Given the description of an element on the screen output the (x, y) to click on. 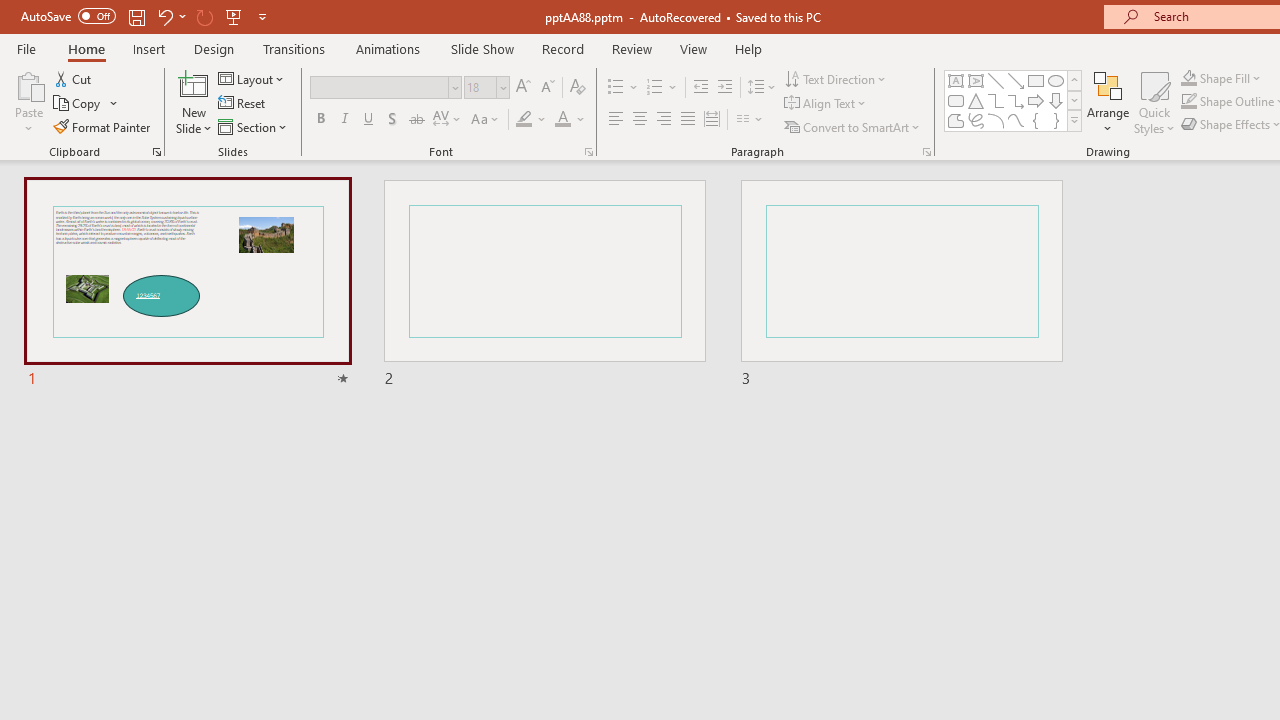
Underline (369, 119)
Shape Outline Teal, Accent 1 (1188, 101)
Justify (687, 119)
Connector: Elbow Arrow (1016, 100)
Curve (1016, 120)
Left Brace (1035, 120)
Oval (1055, 80)
Align Left (616, 119)
Change Case (486, 119)
Convert to SmartArt (853, 126)
Increase Indent (725, 87)
